Given the description of an element on the screen output the (x, y) to click on. 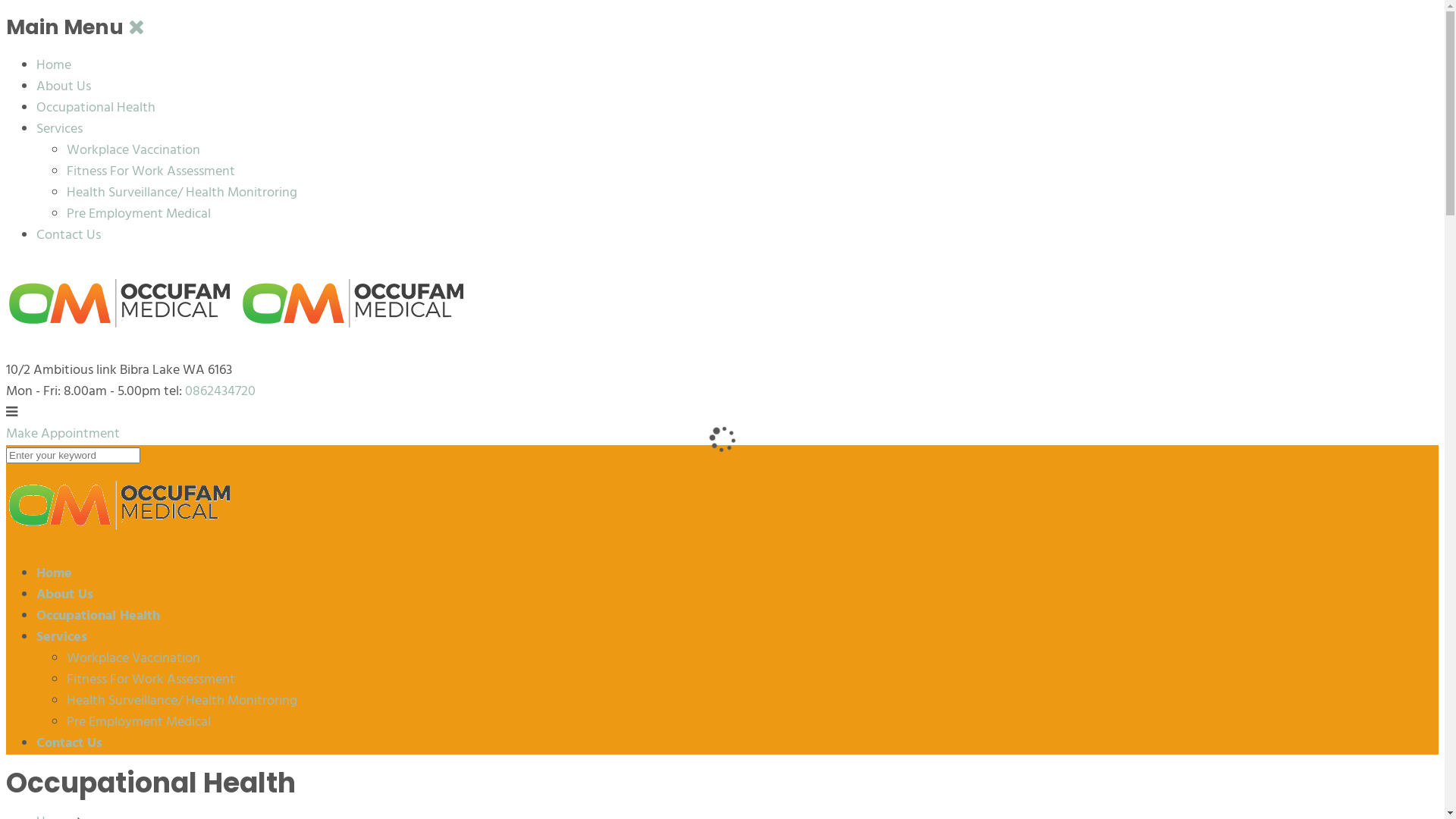
Occufam Medical Centre Element type: hover (236, 330)
Contact Us Element type: text (69, 743)
Workplace Vaccination Element type: text (133, 150)
Pre Employment Medical Element type: text (138, 214)
Fitness For Work Assessment Element type: text (150, 171)
About Us Element type: text (63, 86)
Pre Employment Medical Element type: text (138, 722)
Home Element type: text (54, 573)
Services Element type: text (59, 129)
Health Surveillance/ Health Monitroring Element type: text (181, 192)
0862434720 Element type: text (218, 391)
Services Element type: text (61, 637)
Contact Us Element type: text (68, 235)
Occupational Health Element type: text (98, 616)
Home Element type: text (53, 65)
Occupational Health Element type: text (95, 108)
Enter your keyword Element type: hover (73, 455)
Occufam Medical Centre Element type: hover (119, 538)
About Us Element type: text (64, 594)
Workplace Vaccination Element type: text (133, 658)
Make Appointment Element type: text (62, 434)
Fitness For Work Assessment Element type: text (150, 679)
Health Surveillance/ Health Monitroring Element type: text (181, 701)
